Given the description of an element on the screen output the (x, y) to click on. 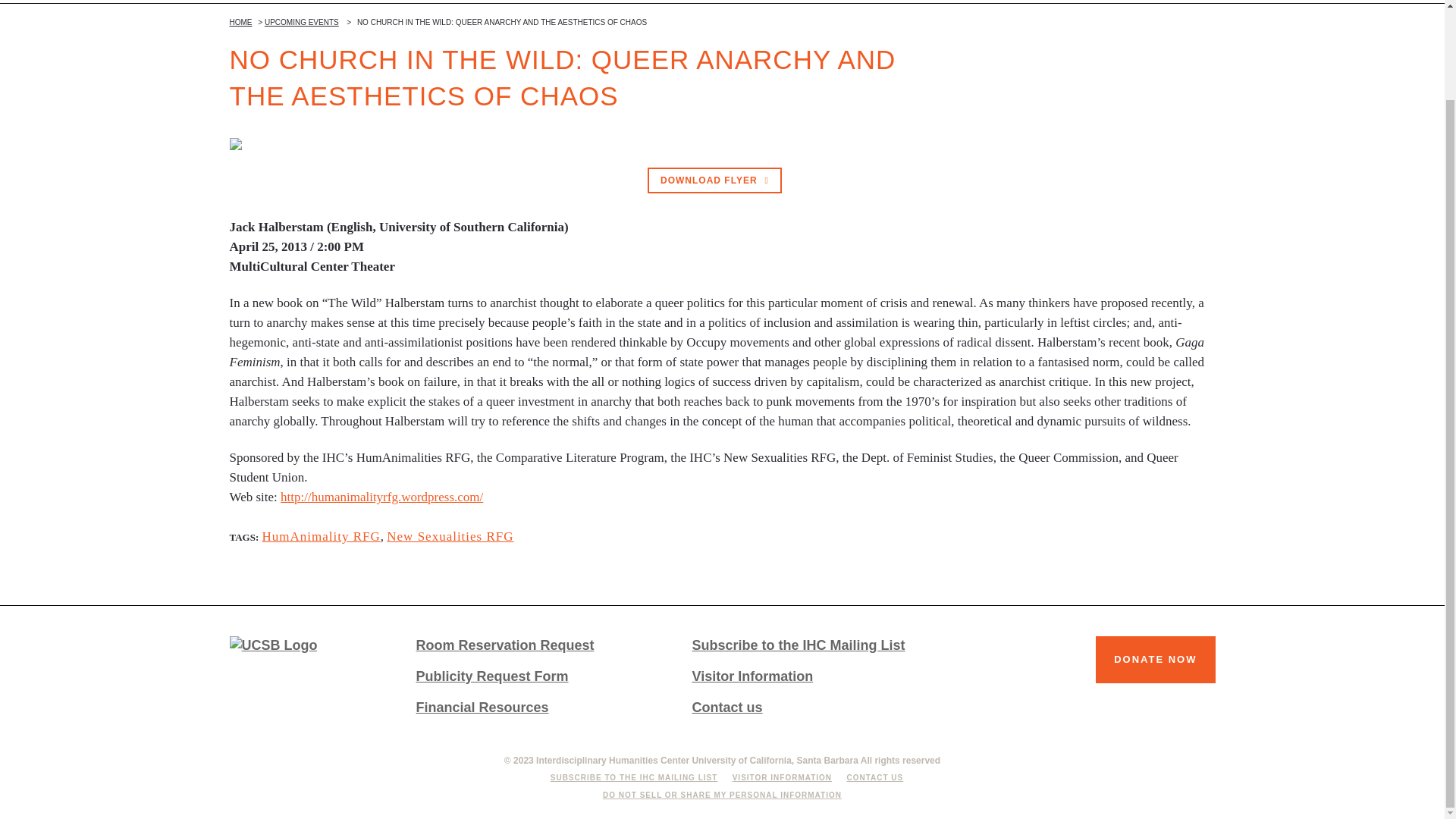
PUBLIC HUMANITIES (1168, 1)
ABOUT US (818, 1)
RESEARCH SUPPORT (941, 1)
Subscribe to the IHC Mailing List (812, 645)
Room Reservation Request (534, 645)
Contact us (812, 707)
Visitor Information (812, 676)
UPCOMING EVENTS (301, 22)
HOME (239, 22)
DONATE NOW (1155, 659)
